Given the description of an element on the screen output the (x, y) to click on. 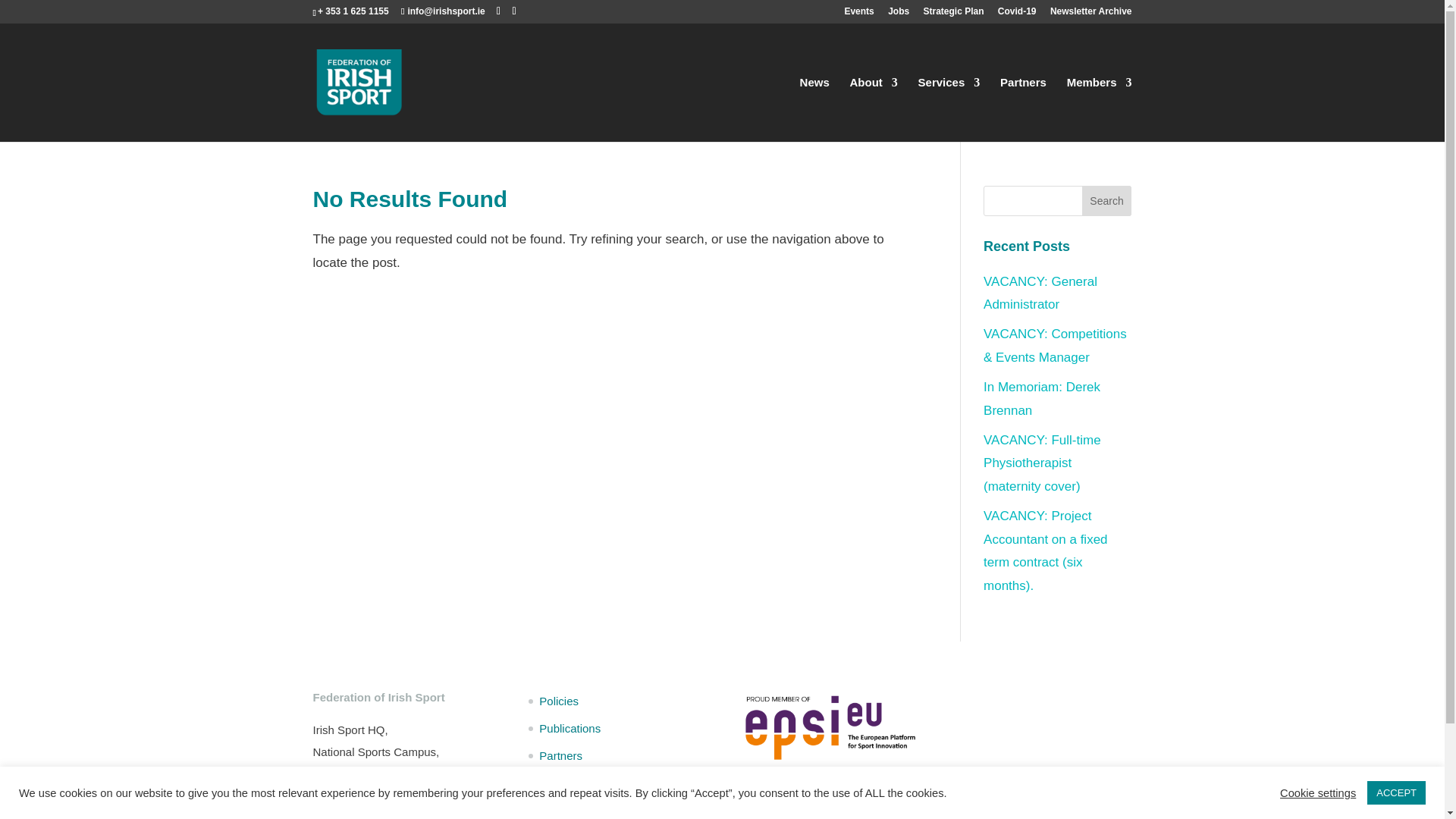
Members (1099, 108)
Search (1106, 200)
Events (858, 14)
Strategic Plan (953, 14)
Services (948, 108)
Newsletter Archive (1090, 14)
Jobs (898, 14)
Covid-19 (1016, 14)
